Given the description of an element on the screen output the (x, y) to click on. 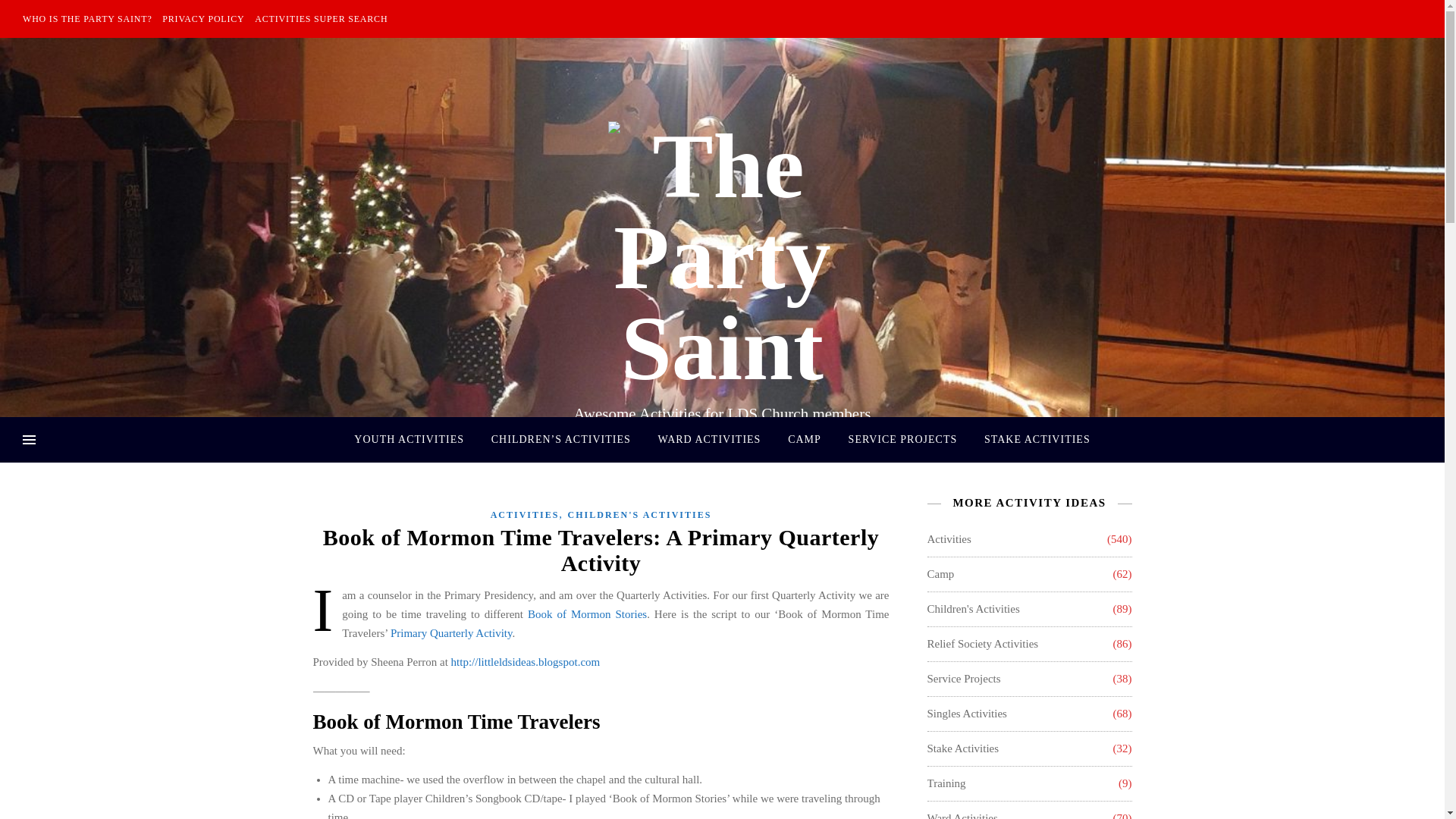
Large-scale cctivities for your stake or region. (962, 748)
Activities for Children (972, 609)
STAKE ACTIVITIES (1031, 439)
SERVICE PROJECTS (902, 439)
CAMP (804, 439)
YOUTH ACTIVITIES (414, 439)
ACTIVITIES SUPER SEARCH (318, 18)
WARD ACTIVITIES (709, 439)
CHILDREN'S ACTIVITIES (639, 514)
Primary Quarterly Activity (451, 633)
The Party Saint (721, 257)
Service project ideas (963, 678)
ACTIVITIES (524, 514)
Camp Related activities for boys and girls. (939, 574)
